Given the description of an element on the screen output the (x, y) to click on. 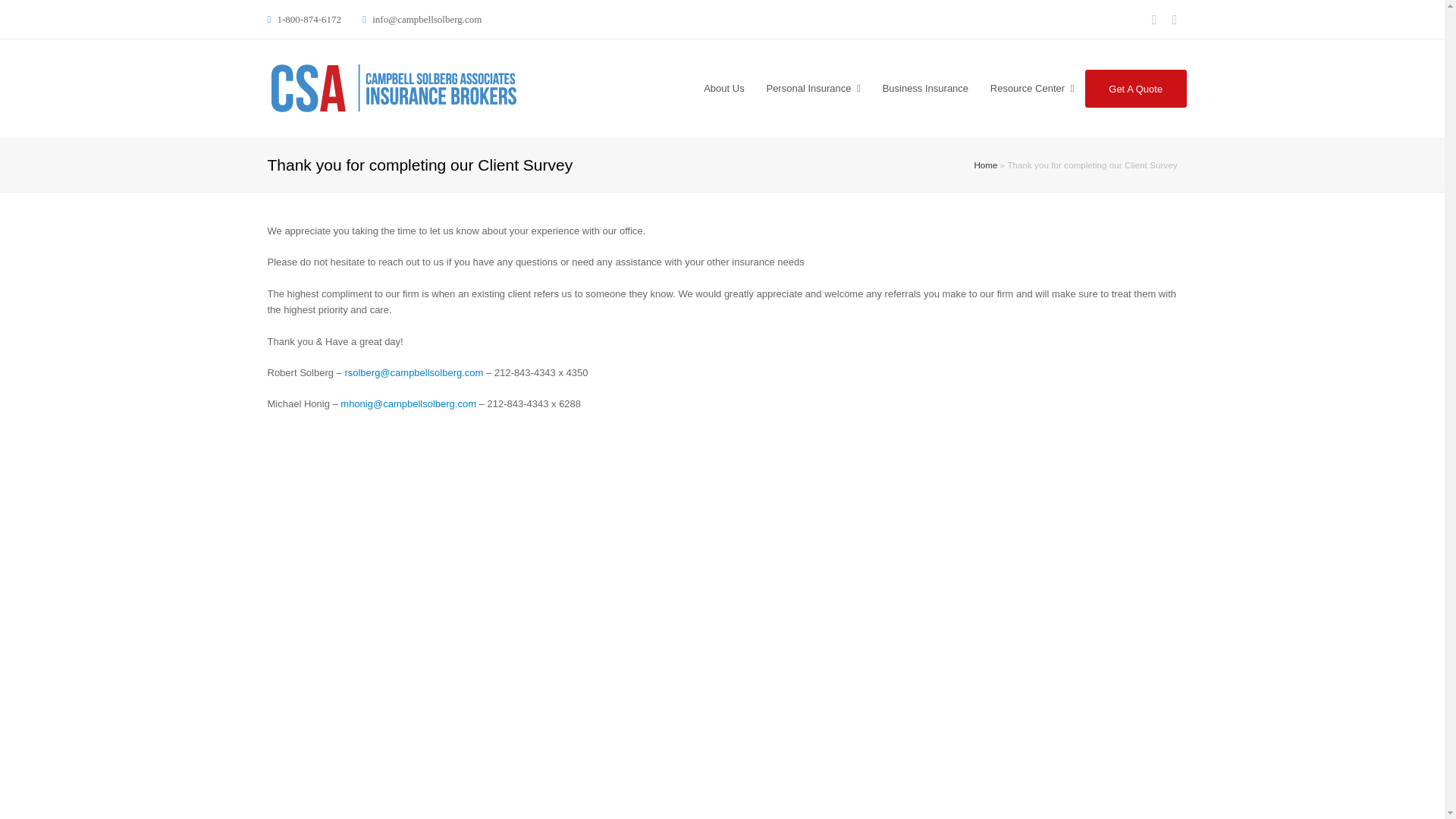
Home (985, 164)
About Us (724, 88)
Get A Quote (1135, 88)
Personal Insurance (812, 88)
Resource Center (1031, 88)
Campbell Solberg (392, 88)
Business Insurance (924, 88)
